Given the description of an element on the screen output the (x, y) to click on. 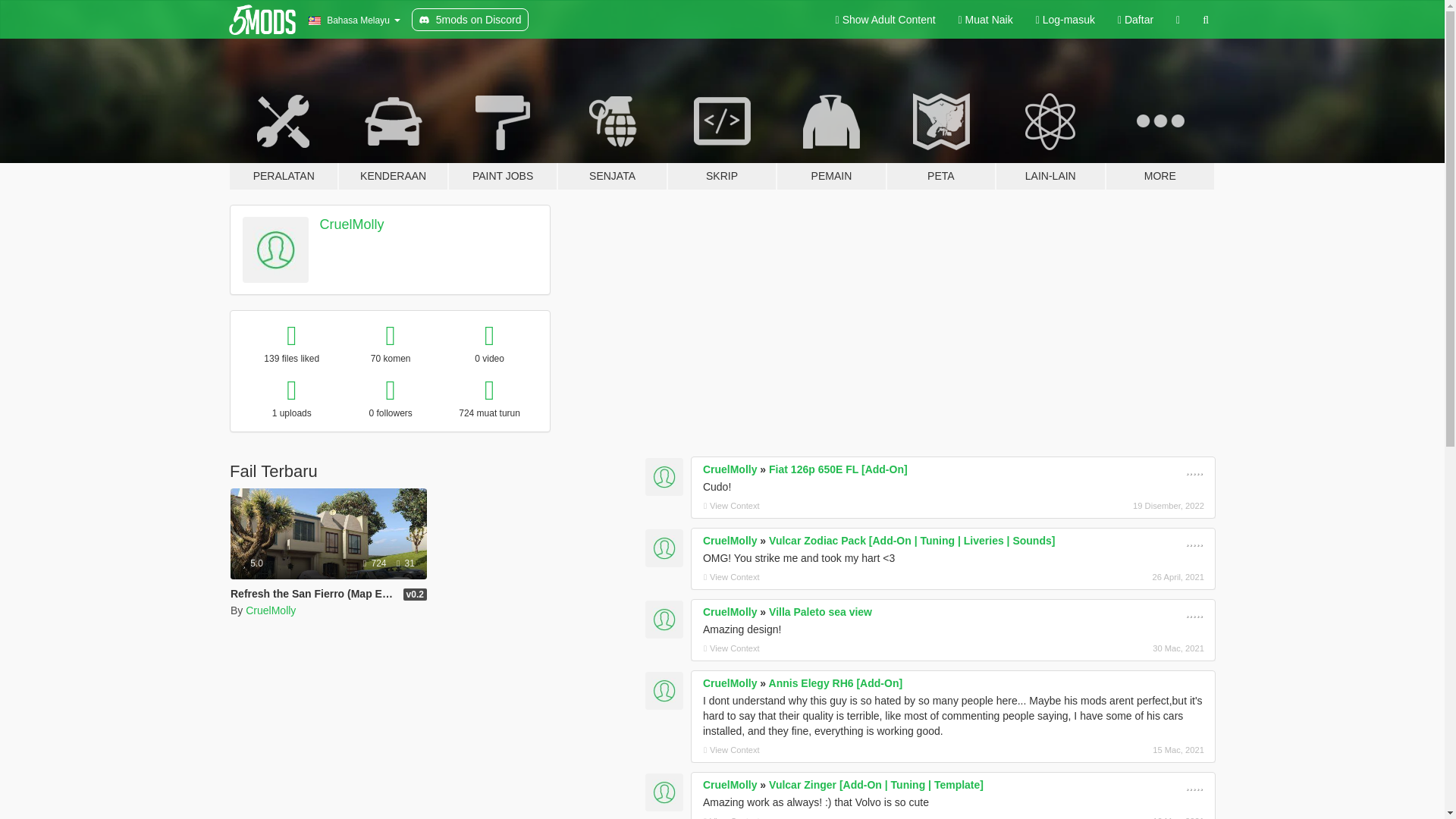
v0.2 (414, 594)
Show Adult Content (885, 19)
5.0 star rating (253, 562)
Terbaekkk! (1195, 540)
CruelMolly (270, 610)
5mods on Discord (470, 19)
31 Suka (405, 562)
Light mode (885, 19)
Muat Naik (986, 19)
Terbaekkk! (1195, 469)
724 Muat Turun (375, 562)
Log-masuk (1065, 19)
  Bahasa Melayu (353, 19)
Daftar (1135, 19)
